Given the description of an element on the screen output the (x, y) to click on. 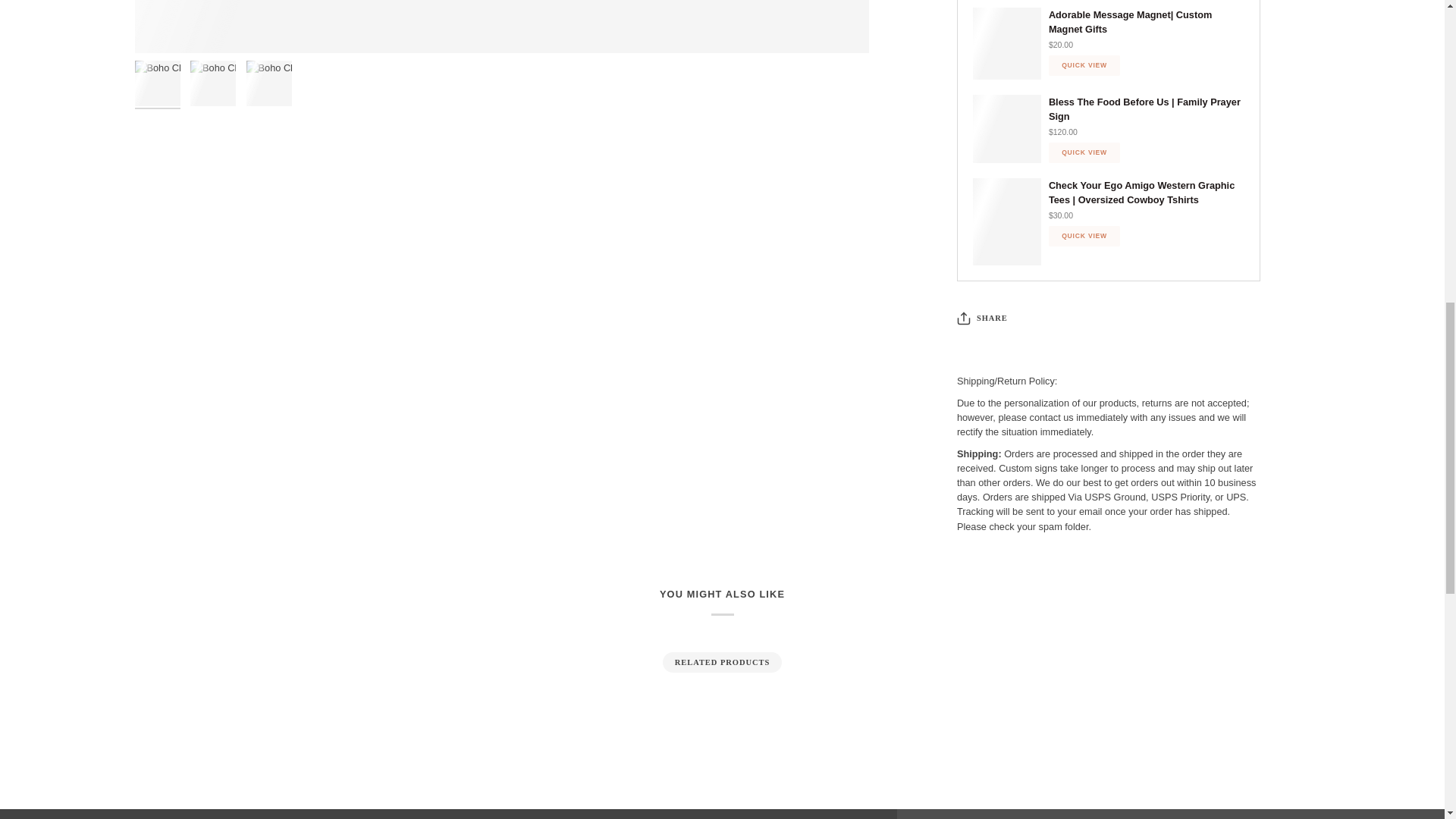
RELATED PRODUCTS (722, 662)
